Given the description of an element on the screen output the (x, y) to click on. 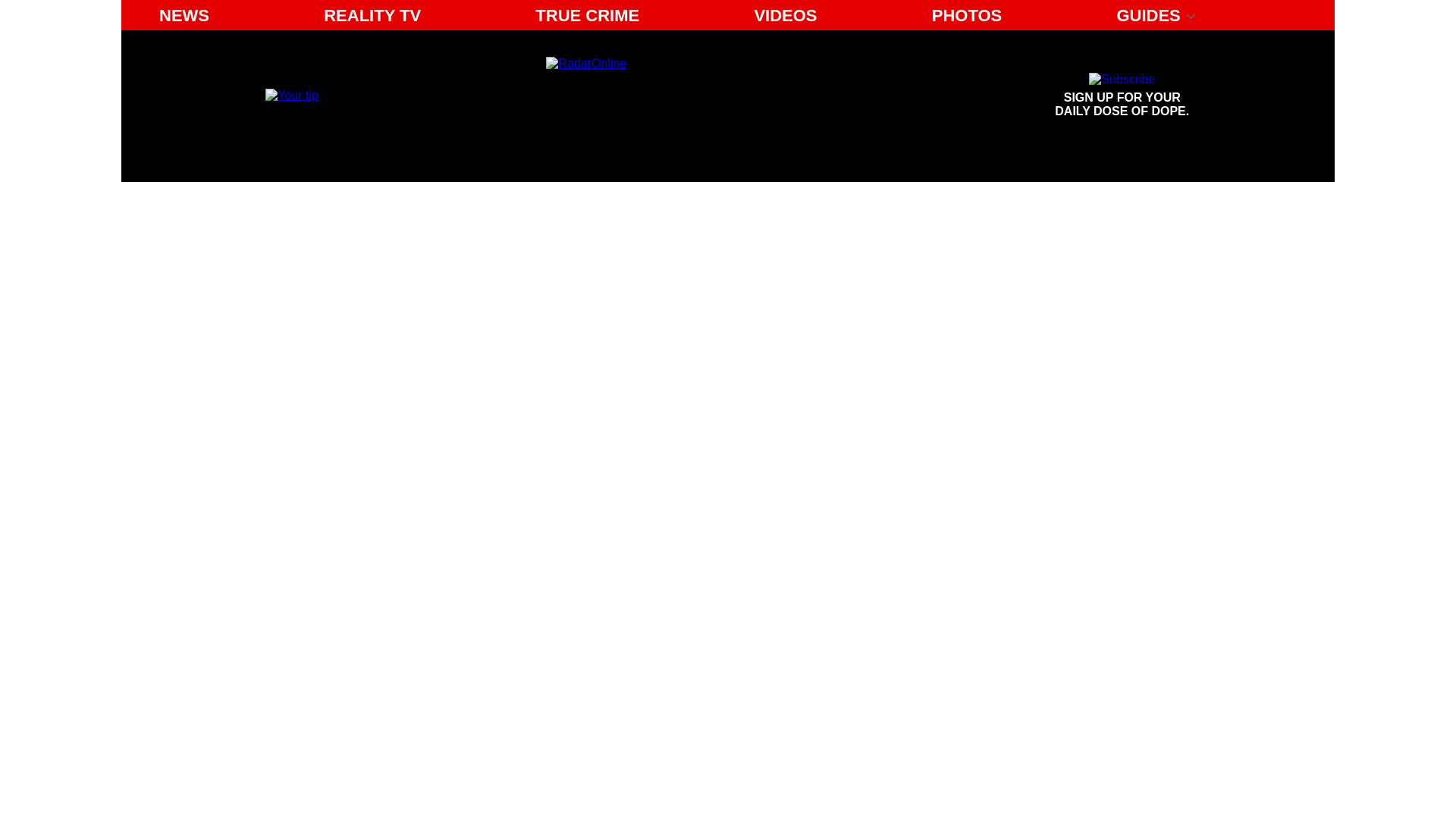
Sign up for your daily dose of dope. (1122, 94)
Radar Online (685, 95)
TRUE CRIME (586, 15)
Email us your tip (1122, 94)
PHOTOS (291, 94)
NEWS (967, 15)
REALITY TV (183, 15)
VIDEOS (371, 15)
